Given the description of an element on the screen output the (x, y) to click on. 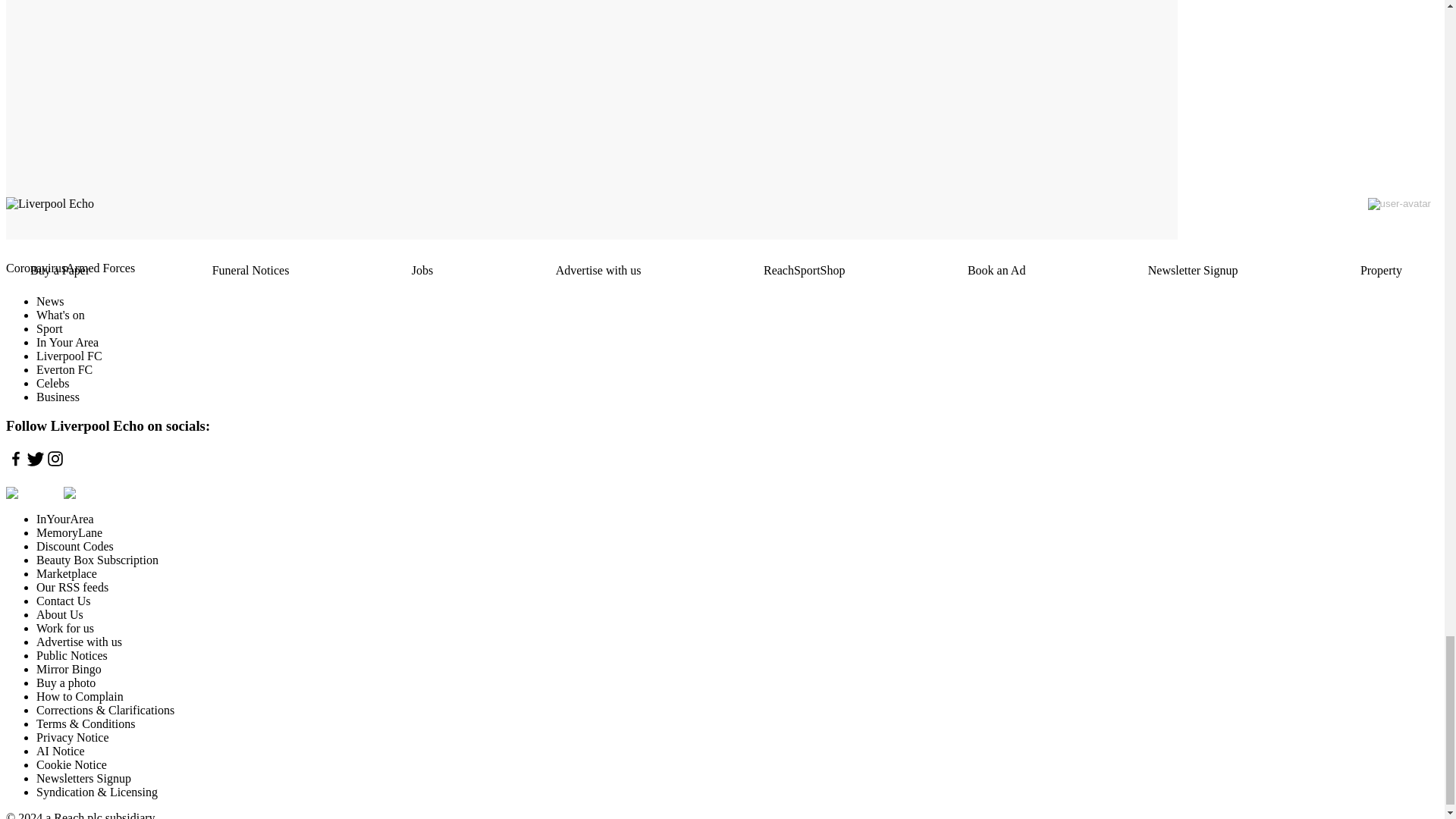
What's on (60, 314)
Sport (49, 328)
Coronavirus (35, 268)
Armed Forces (100, 268)
News (50, 300)
